Given the description of an element on the screen output the (x, y) to click on. 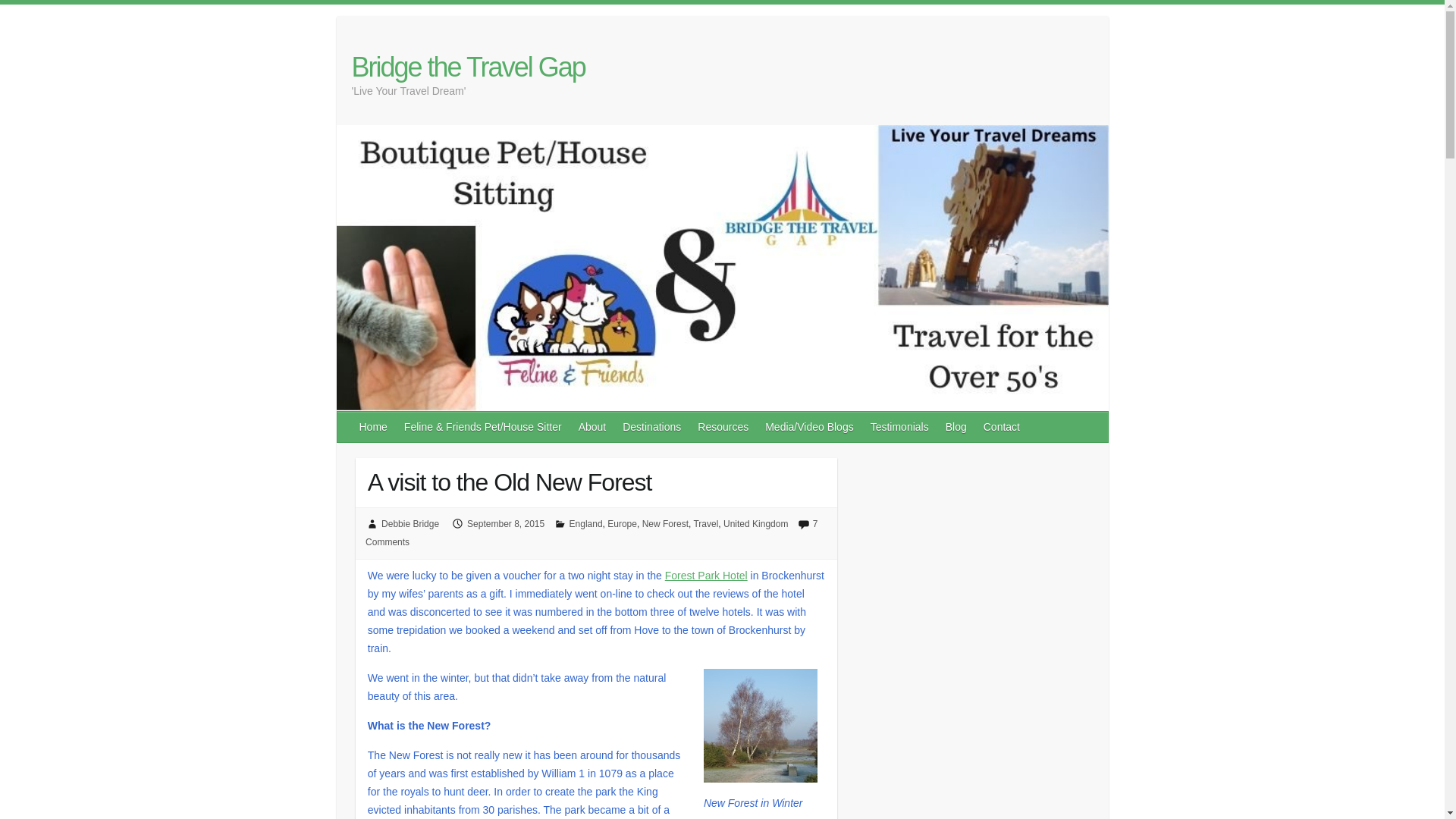
About (592, 426)
Bridge the Travel Gap (468, 67)
Home (374, 426)
Bridge the Travel Gap (468, 67)
Destinations (652, 426)
